Given the description of an element on the screen output the (x, y) to click on. 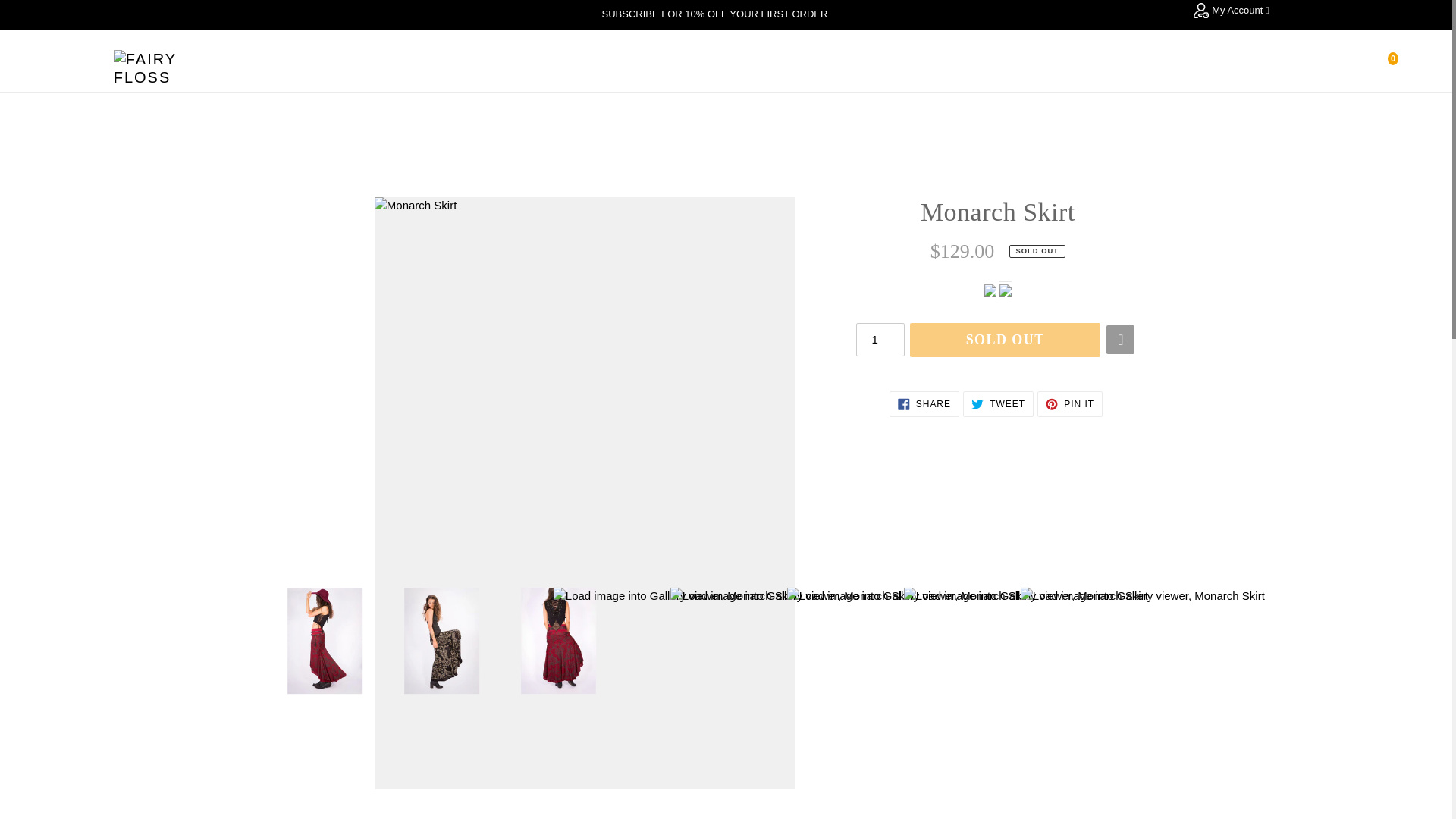
NEW ARRIVALS (466, 67)
MEN (618, 67)
STYLES (788, 67)
BLOGS (1054, 67)
GIFT CARDS (915, 67)
My Account (1231, 11)
1 (880, 339)
ABOUT (992, 67)
SALE (847, 67)
ACCESSORIES (699, 67)
WOMEN (556, 67)
Search (1356, 67)
